Given the description of an element on the screen output the (x, y) to click on. 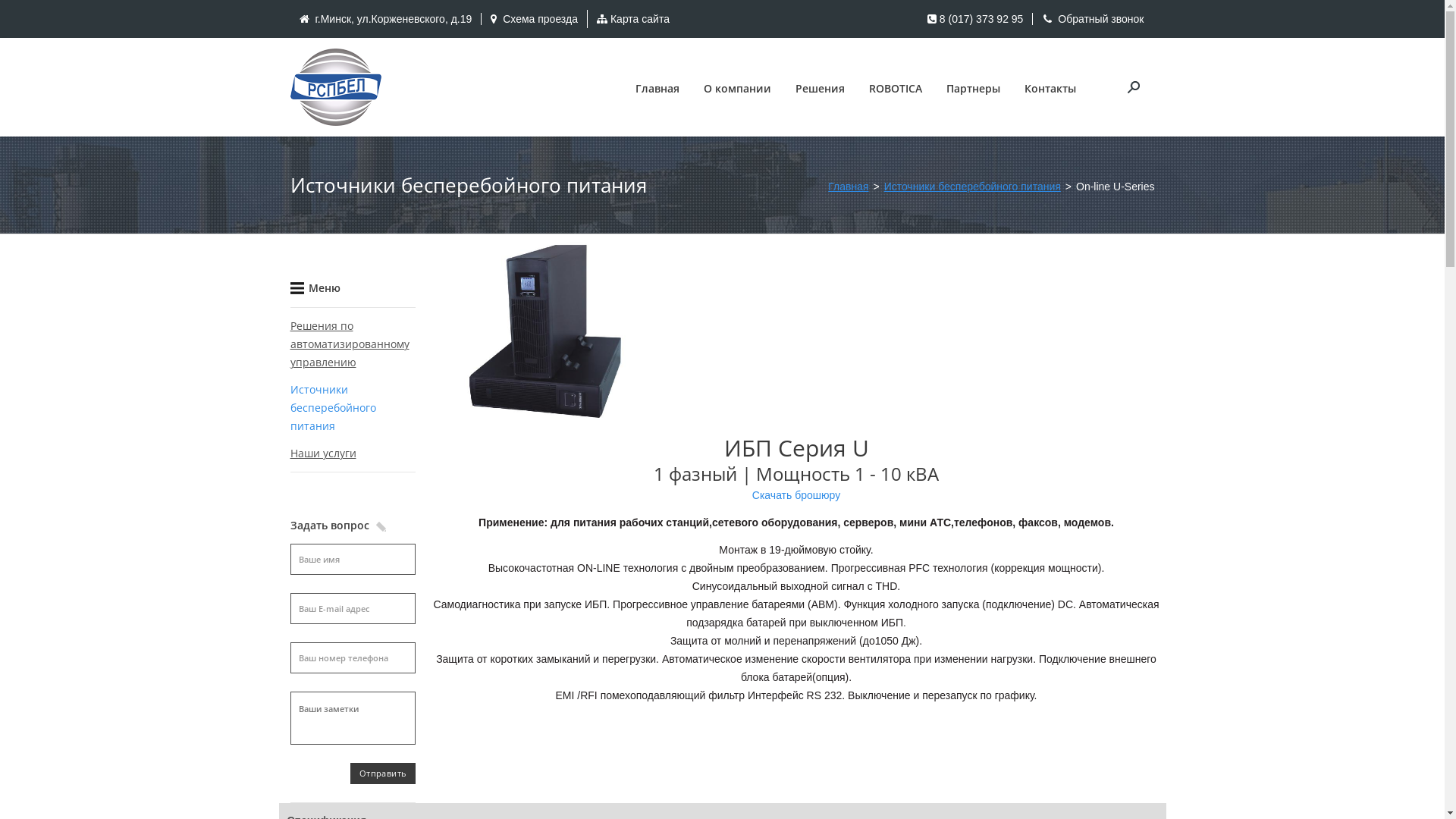
ROBOTICA Element type: text (895, 88)
